Given the description of an element on the screen output the (x, y) to click on. 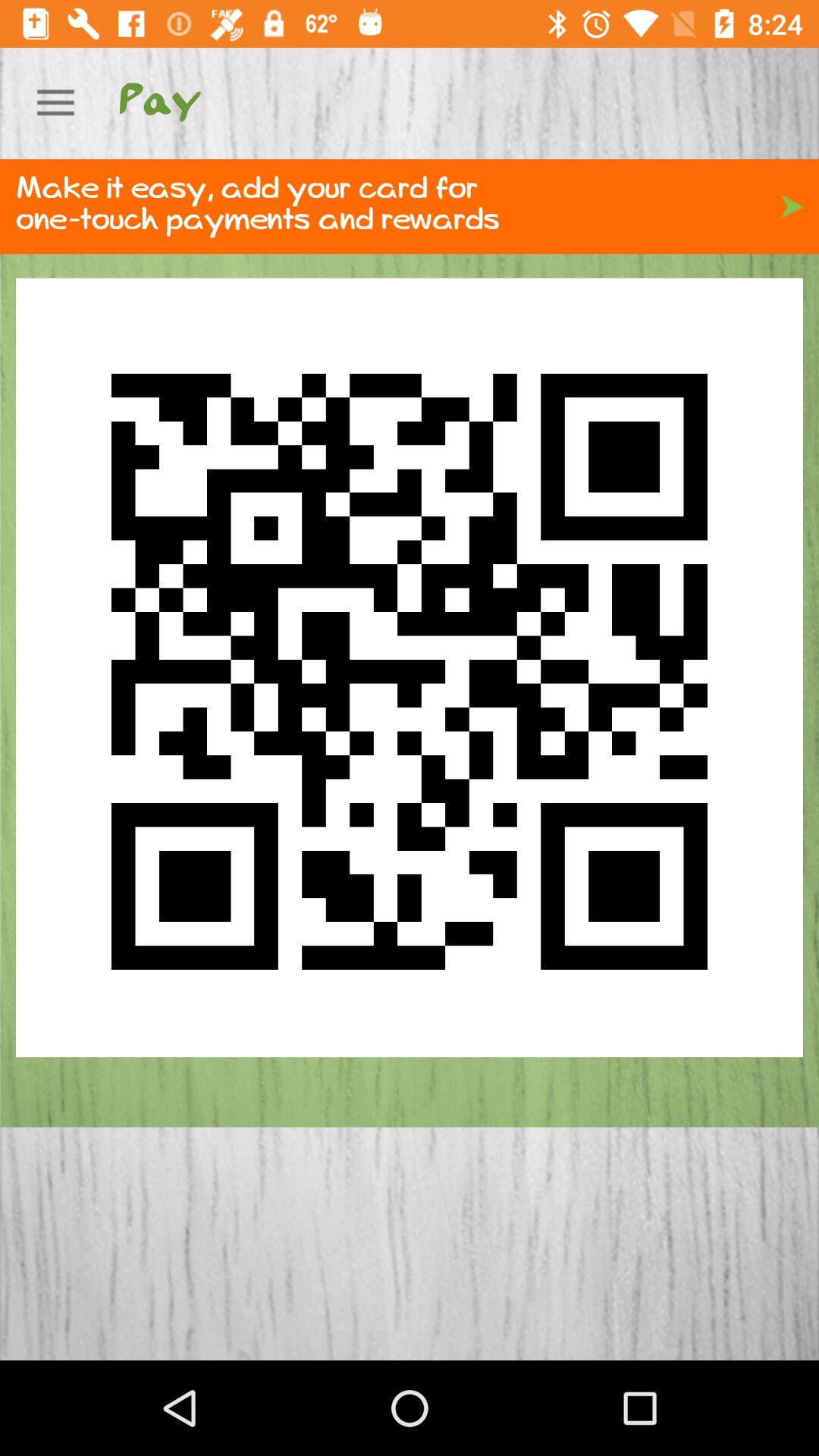
flip until the make it easy (409, 206)
